Given the description of an element on the screen output the (x, y) to click on. 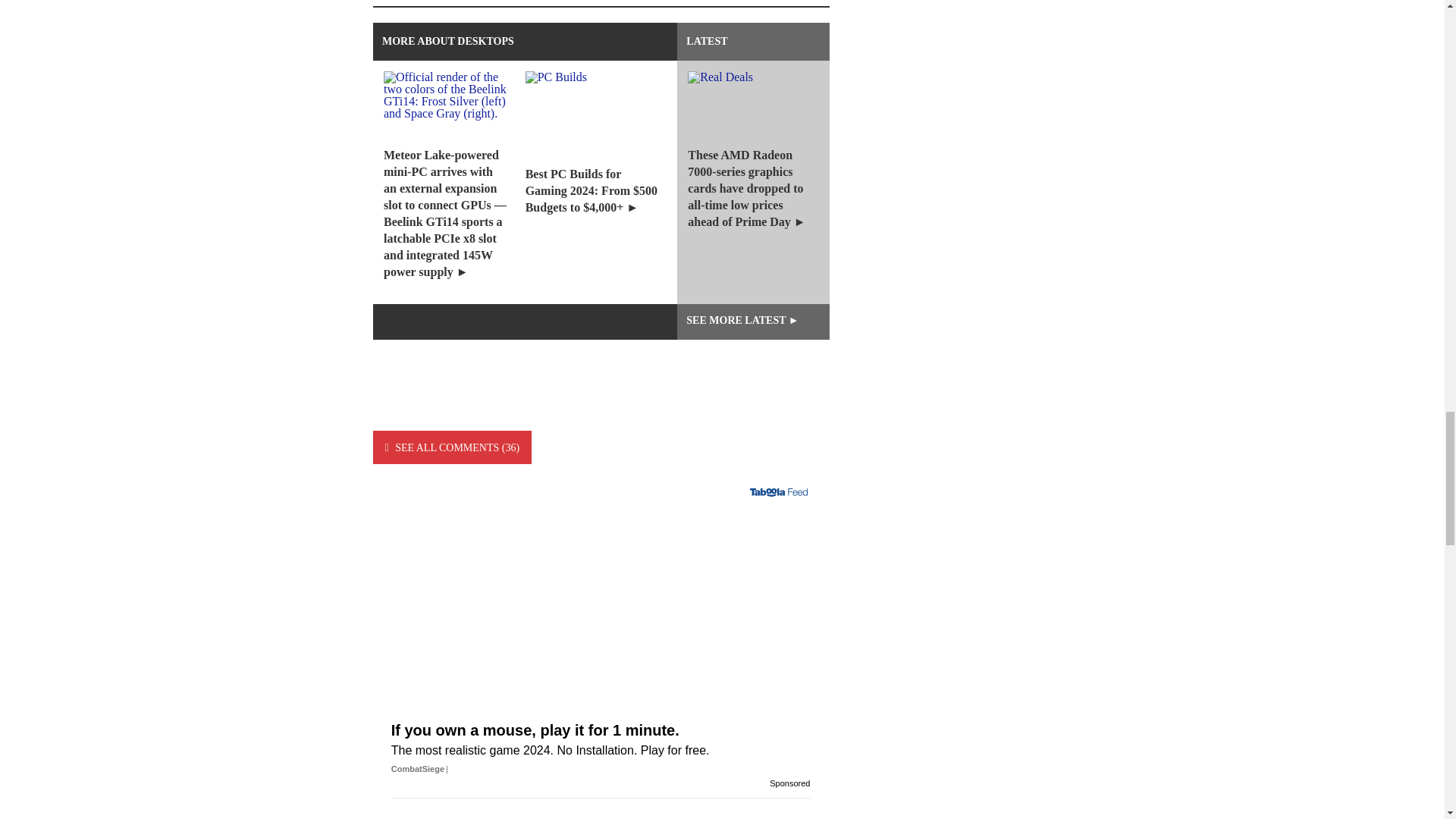
If you own a mouse, play it for 1 minute. (600, 721)
If you own a mouse, play it for 1 minute. (600, 582)
